Given the description of an element on the screen output the (x, y) to click on. 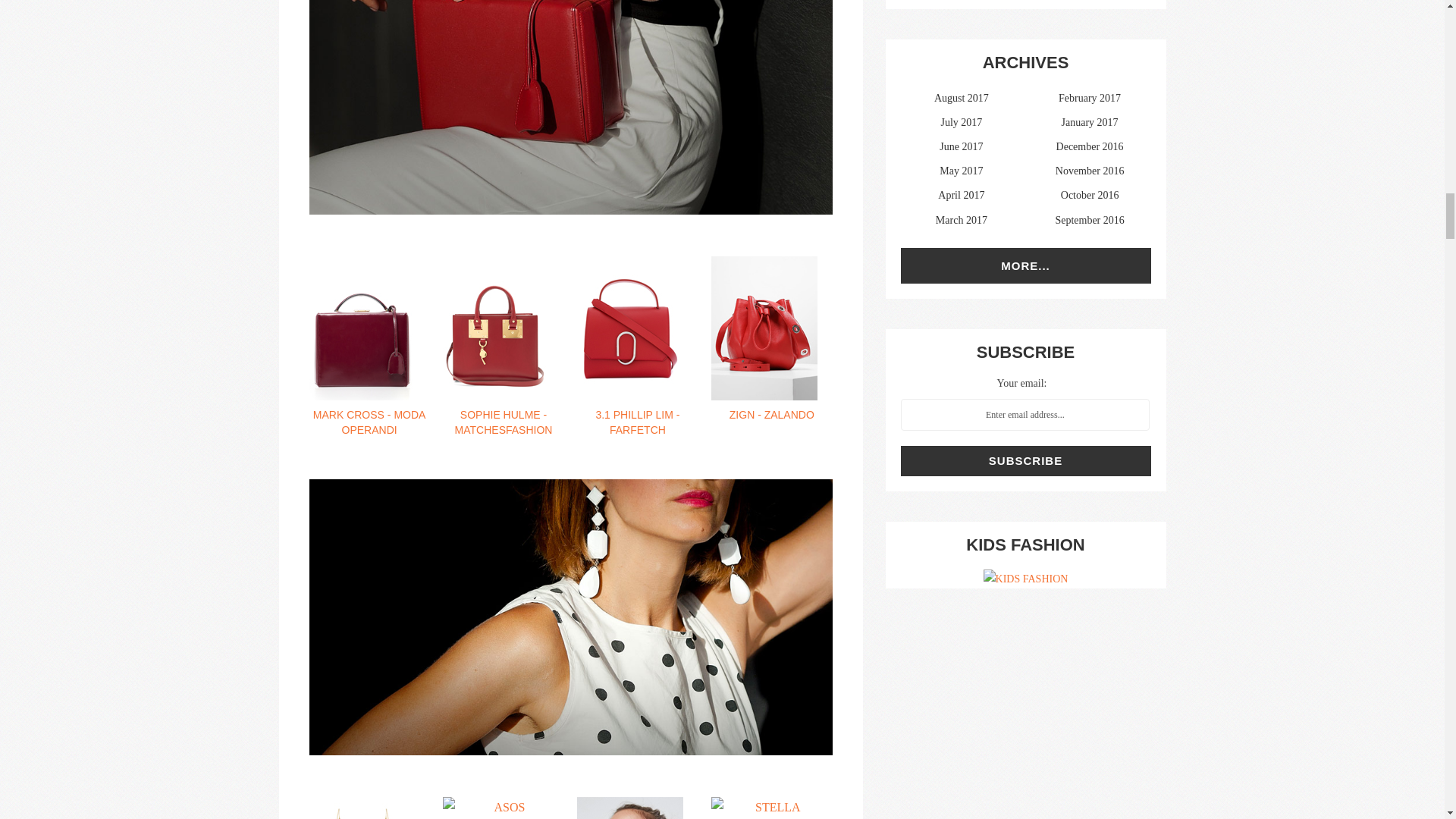
ASOS (636, 807)
Enter email address... (1025, 414)
STELLA MCCARTNEY - FARFETCH (771, 807)
Subscribe (1026, 460)
ASOS (502, 807)
KENNETH JAY LANE - ZALANDO (368, 807)
